Given the description of an element on the screen output the (x, y) to click on. 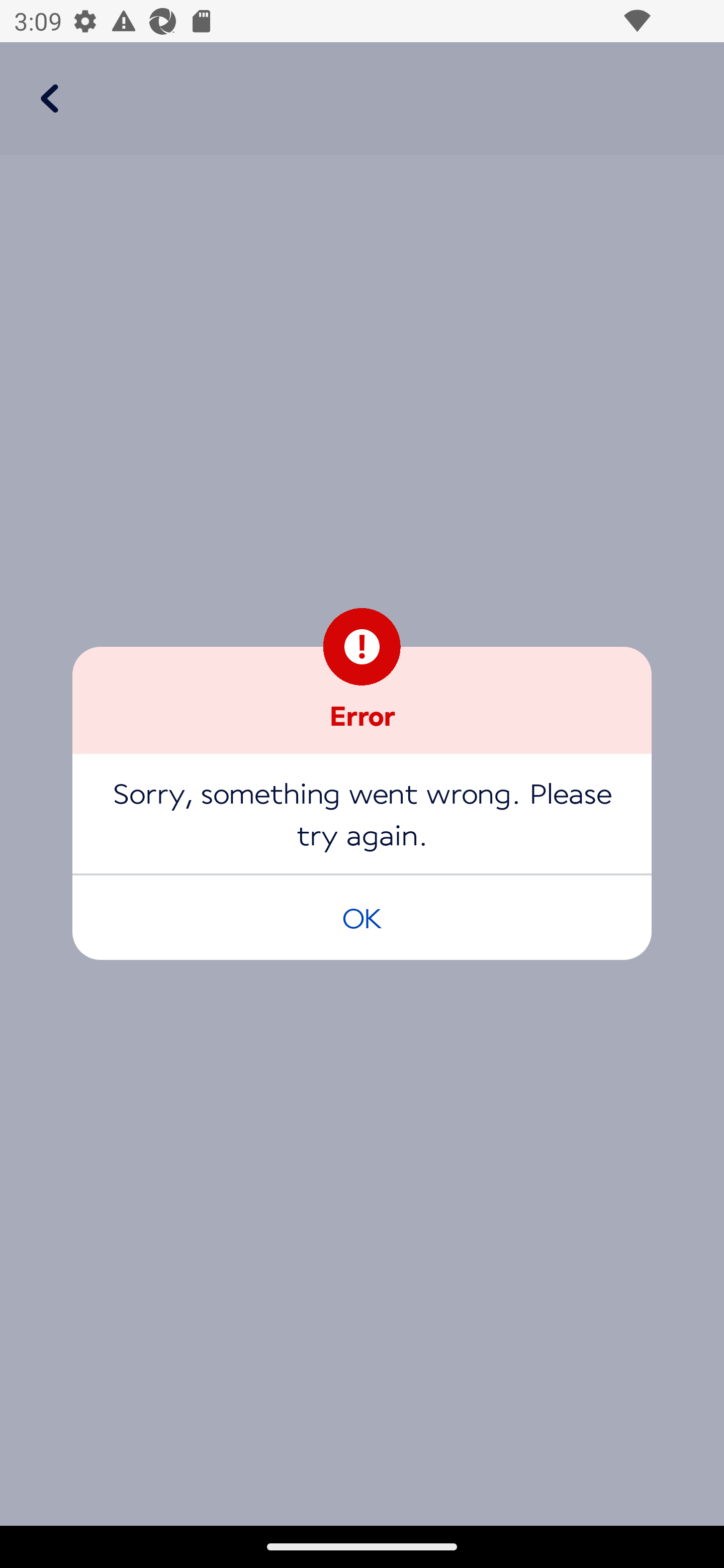
OK (361, 916)
